Given the description of an element on the screen output the (x, y) to click on. 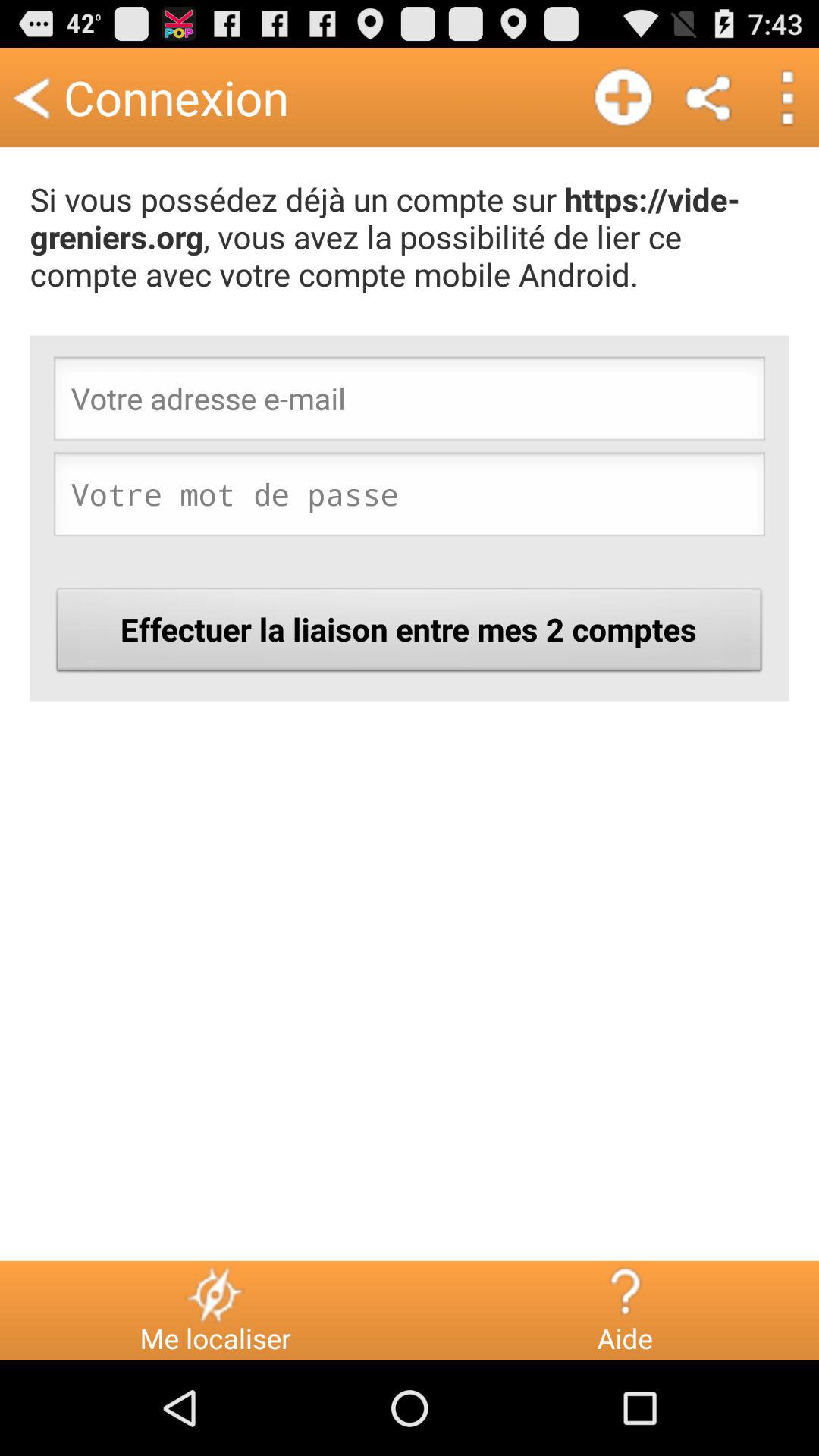
click effectuer la liaison item (409, 633)
